Given the description of an element on the screen output the (x, y) to click on. 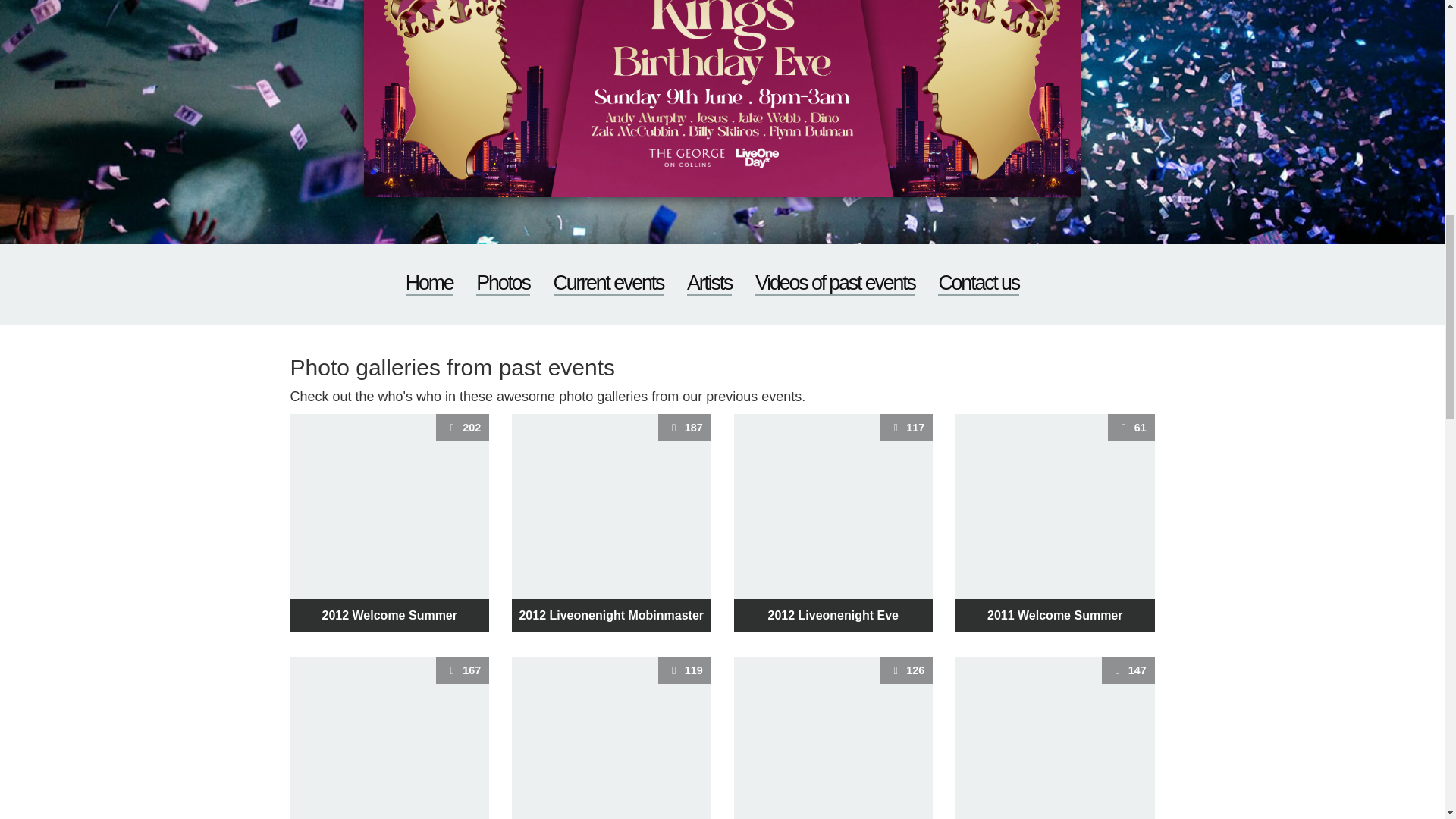
Home (611, 523)
Contact us (833, 523)
Videos of past events (429, 283)
Artists (978, 283)
Photos (1054, 737)
Current events (611, 737)
